Given the description of an element on the screen output the (x, y) to click on. 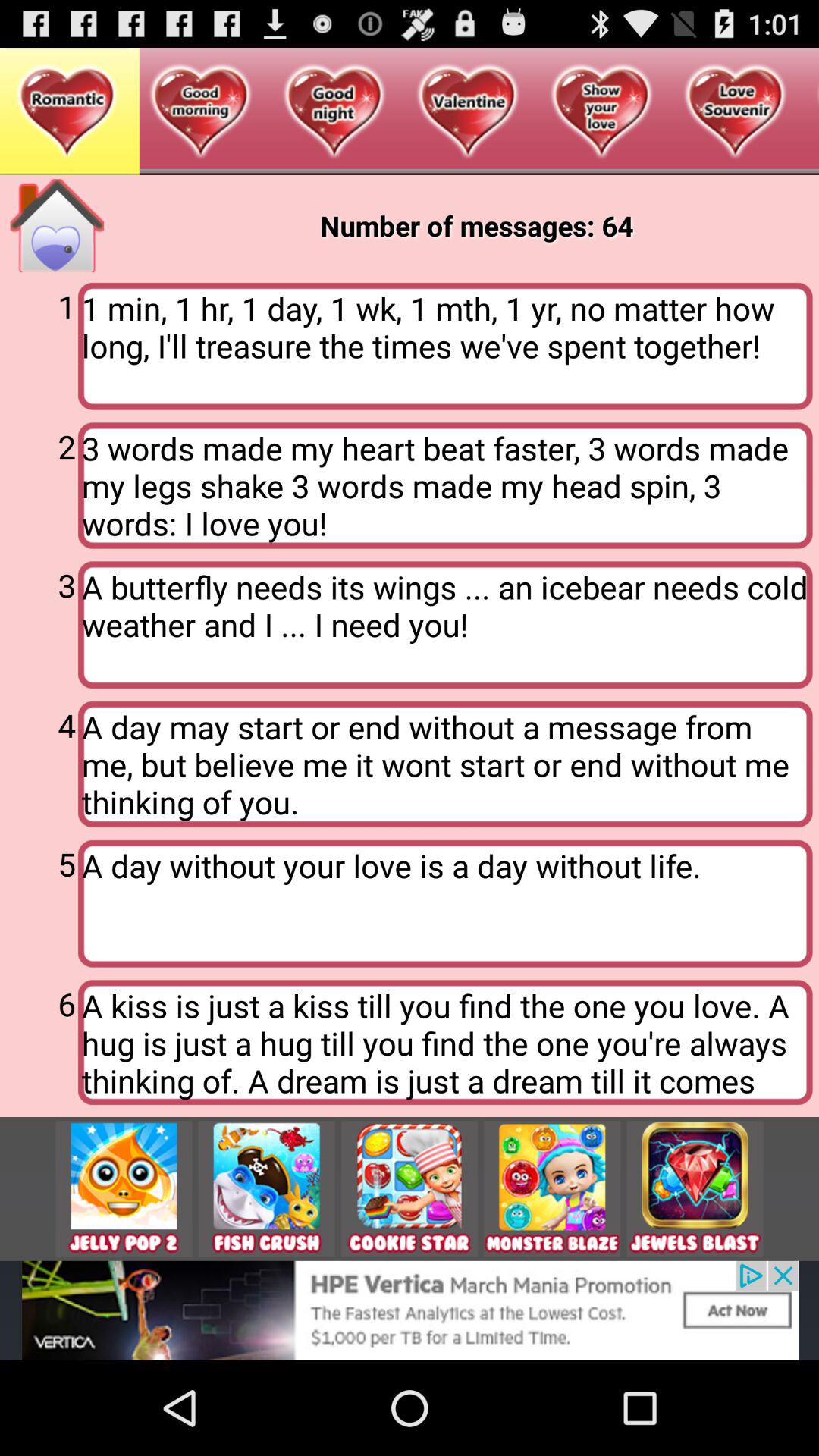
go to advertisement website (409, 1310)
